Given the description of an element on the screen output the (x, y) to click on. 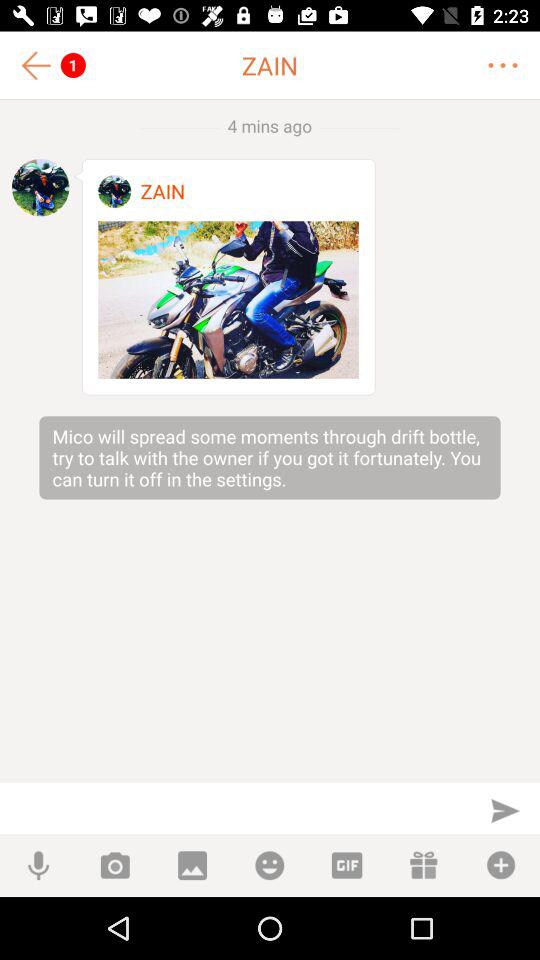
open image (228, 299)
